Given the description of an element on the screen output the (x, y) to click on. 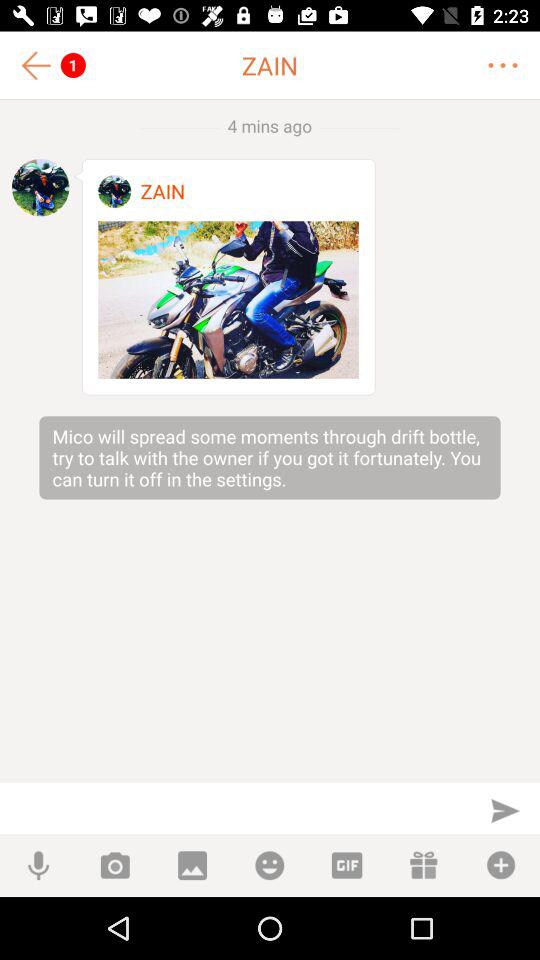
open image (228, 299)
